Given the description of an element on the screen output the (x, y) to click on. 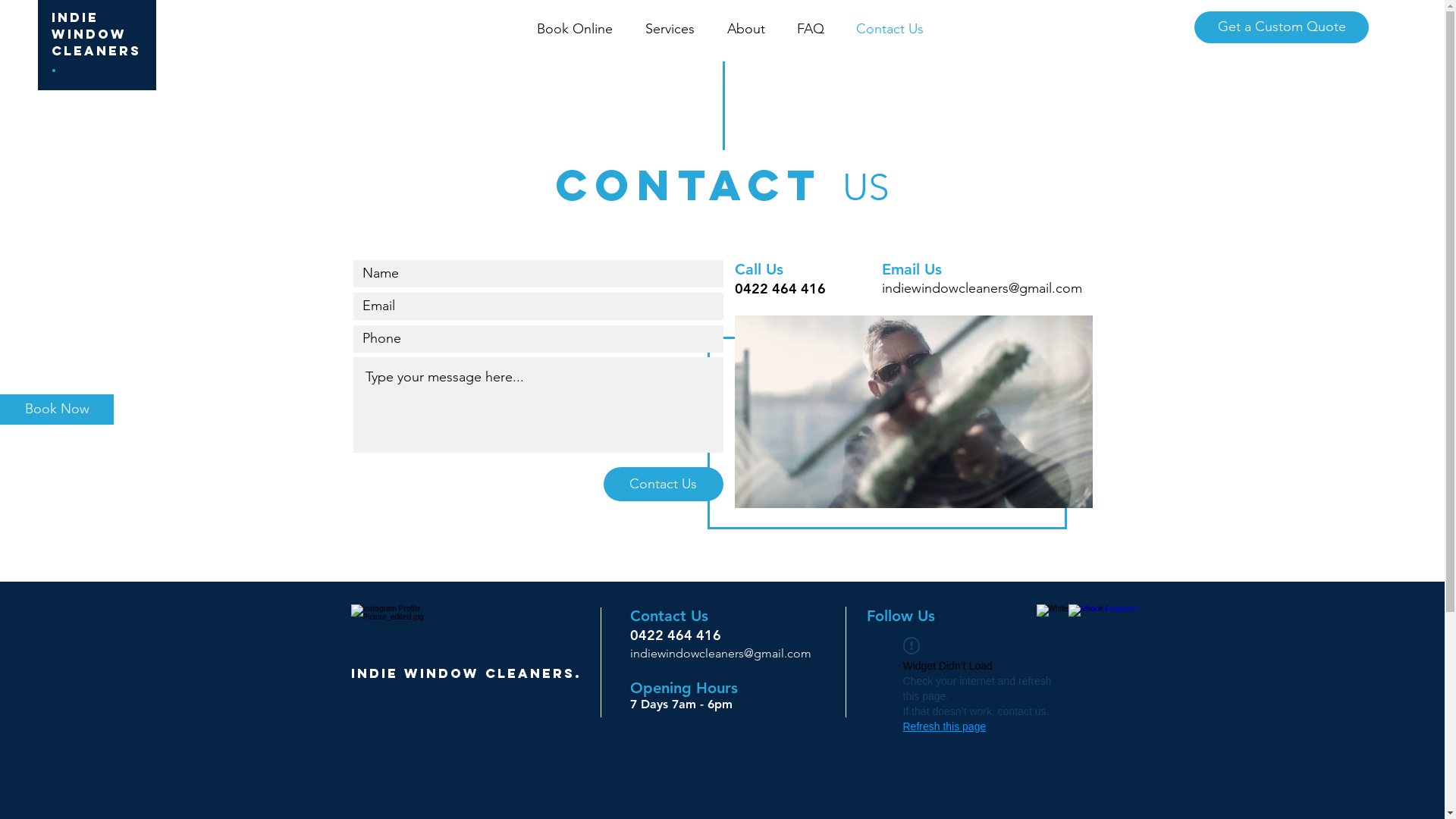
Contact Us Element type: text (889, 29)
Services Element type: text (670, 29)
Book Online Element type: text (574, 29)
Contact Us Element type: text (663, 484)
indie window Element type: text (88, 25)
Book Now Element type: text (56, 409)
cleaners Element type: text (96, 50)
. Element type: text (54, 67)
indiewindowcleaners@gmail.com Element type: text (981, 287)
indiewindowcleaners@gmail.com Element type: text (719, 653)
Refresh this page Element type: text (943, 726)
0422 464 416 Element type: text (779, 288)
About Element type: text (746, 29)
FAQ Element type: text (810, 29)
0422 464 416 Element type: text (674, 635)
Get a Custom Quote Element type: text (1281, 27)
